Given the description of an element on the screen output the (x, y) to click on. 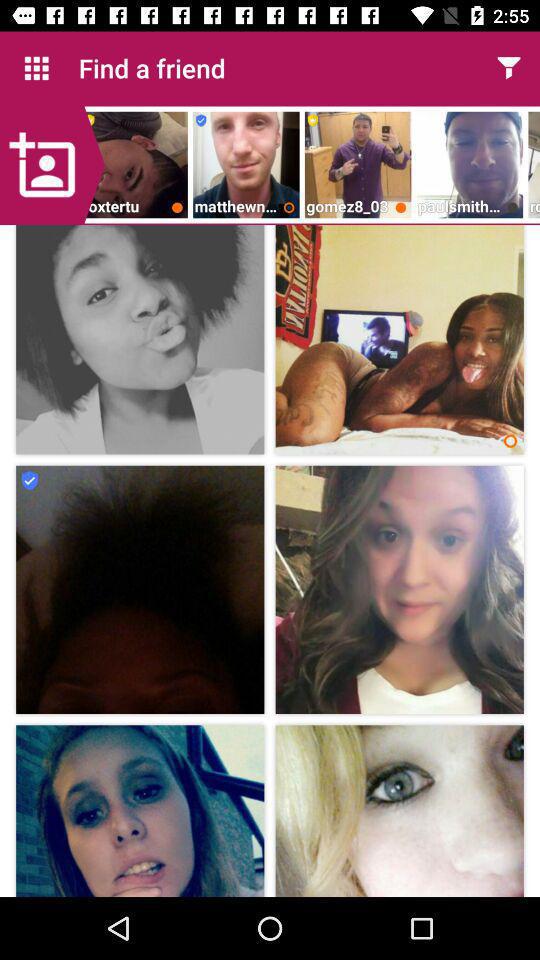
choose item to the left of the find a friend icon (36, 68)
